Given the description of an element on the screen output the (x, y) to click on. 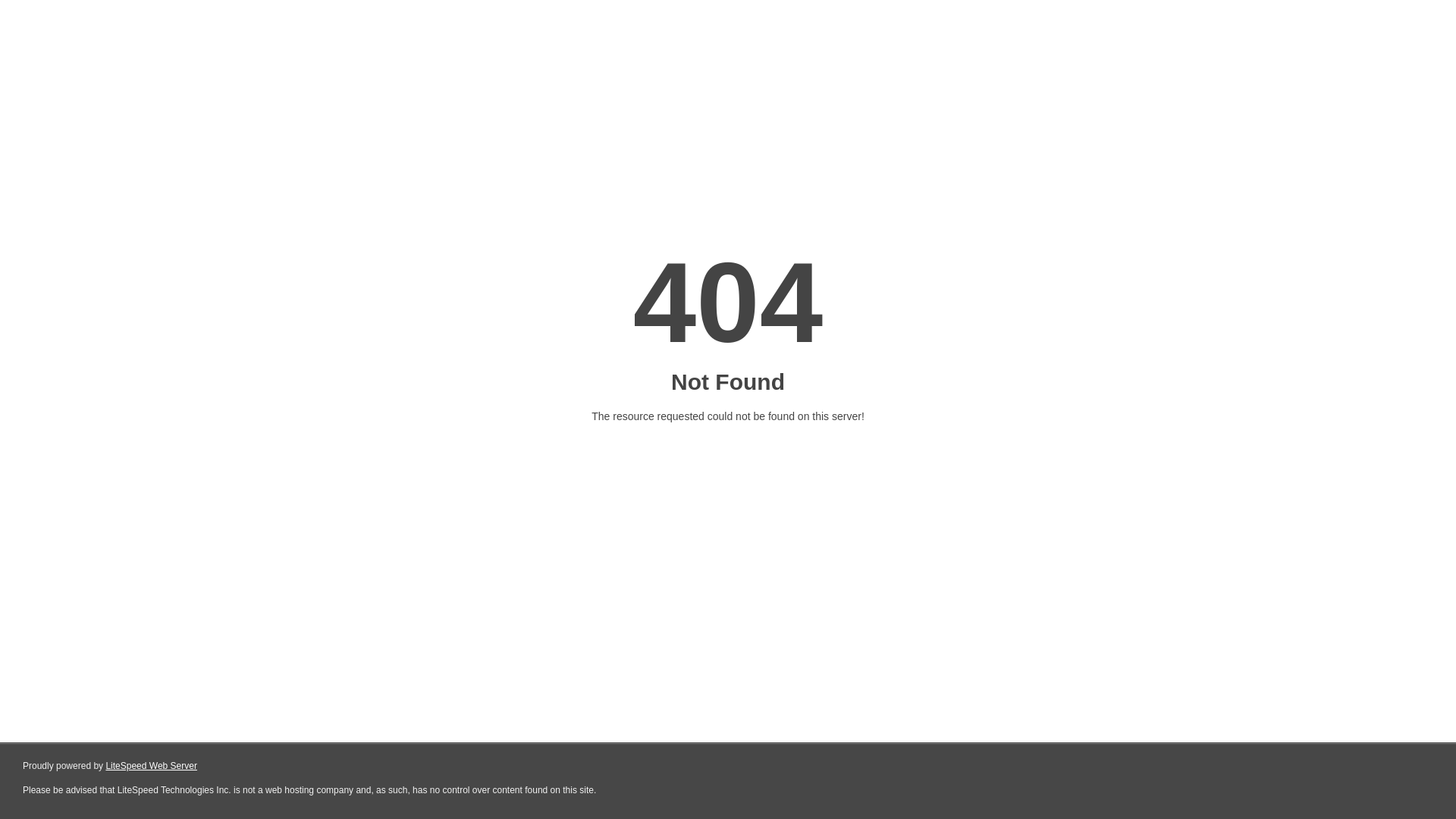
LiteSpeed Web Server Element type: text (151, 765)
